Given the description of an element on the screen output the (x, y) to click on. 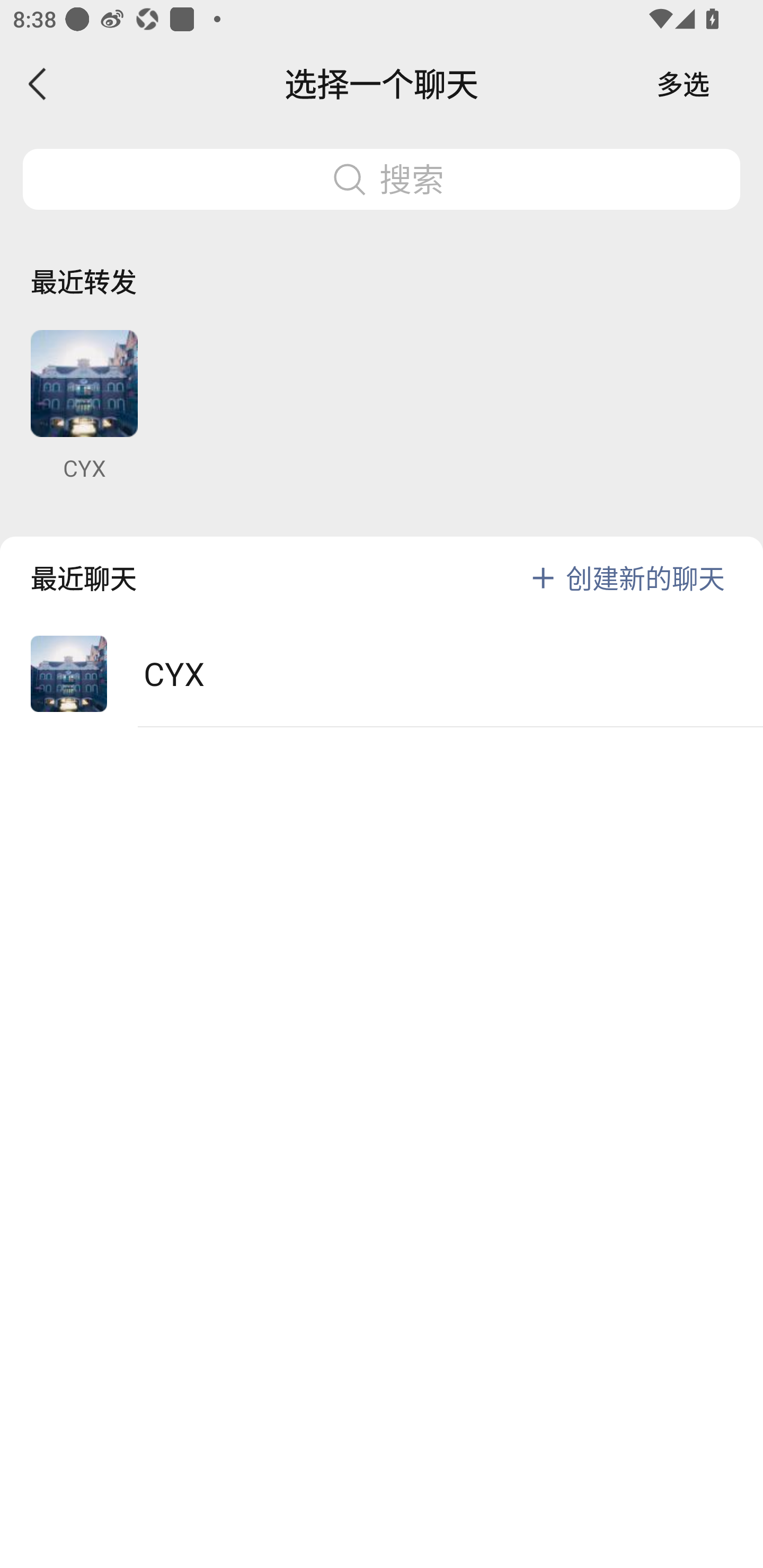
返回 (38, 83)
多选 (683, 83)
CYX (84, 405)
创建新的聊天 (645, 577)
CYX (381, 673)
